Given the description of an element on the screen output the (x, y) to click on. 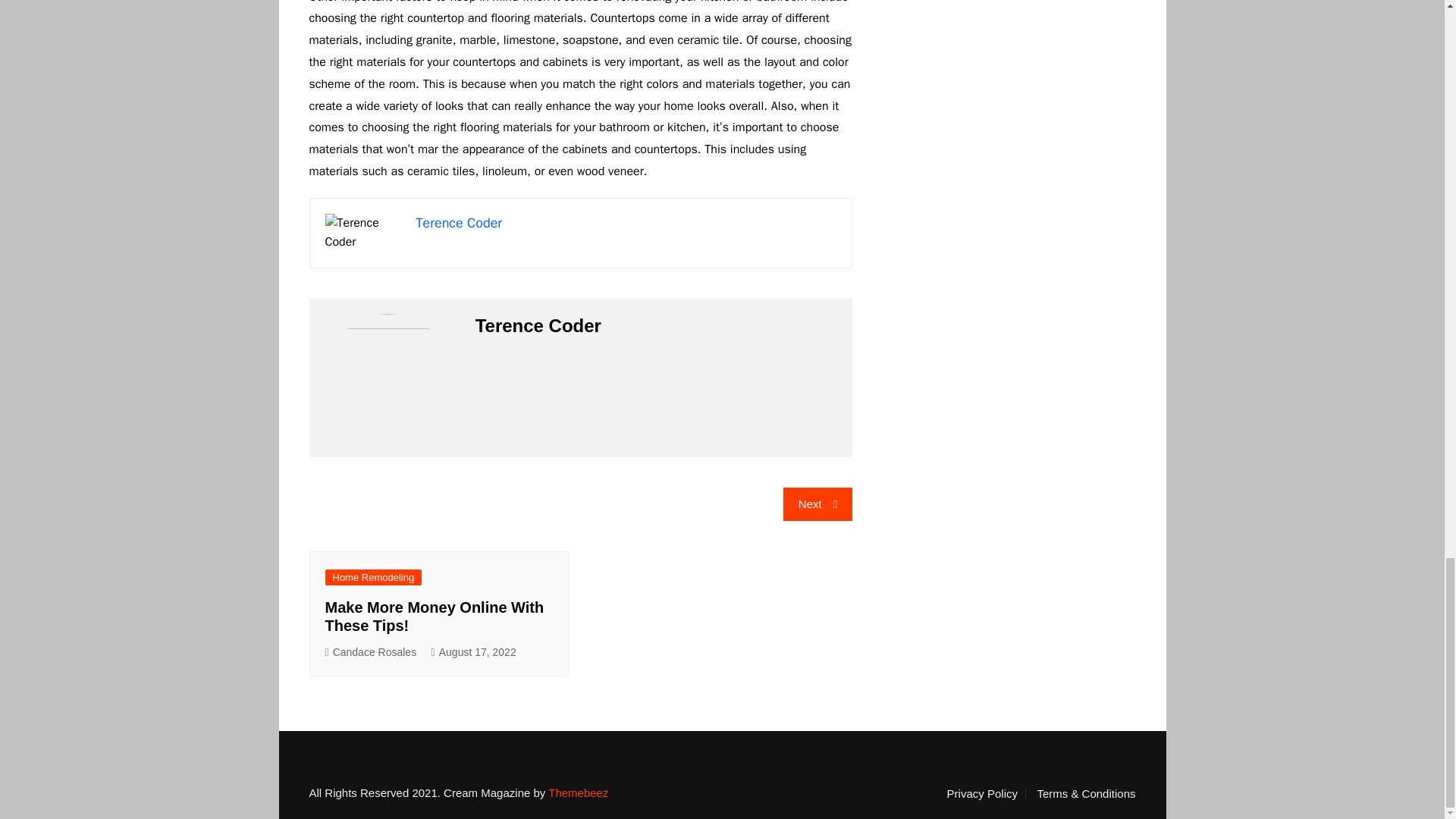
August 17, 2022 (473, 651)
Candace Rosales (370, 651)
Next (817, 503)
Make More Money Online With These Tips! (433, 615)
Terence Coder (458, 222)
Home Remodeling (373, 577)
